Given the description of an element on the screen output the (x, y) to click on. 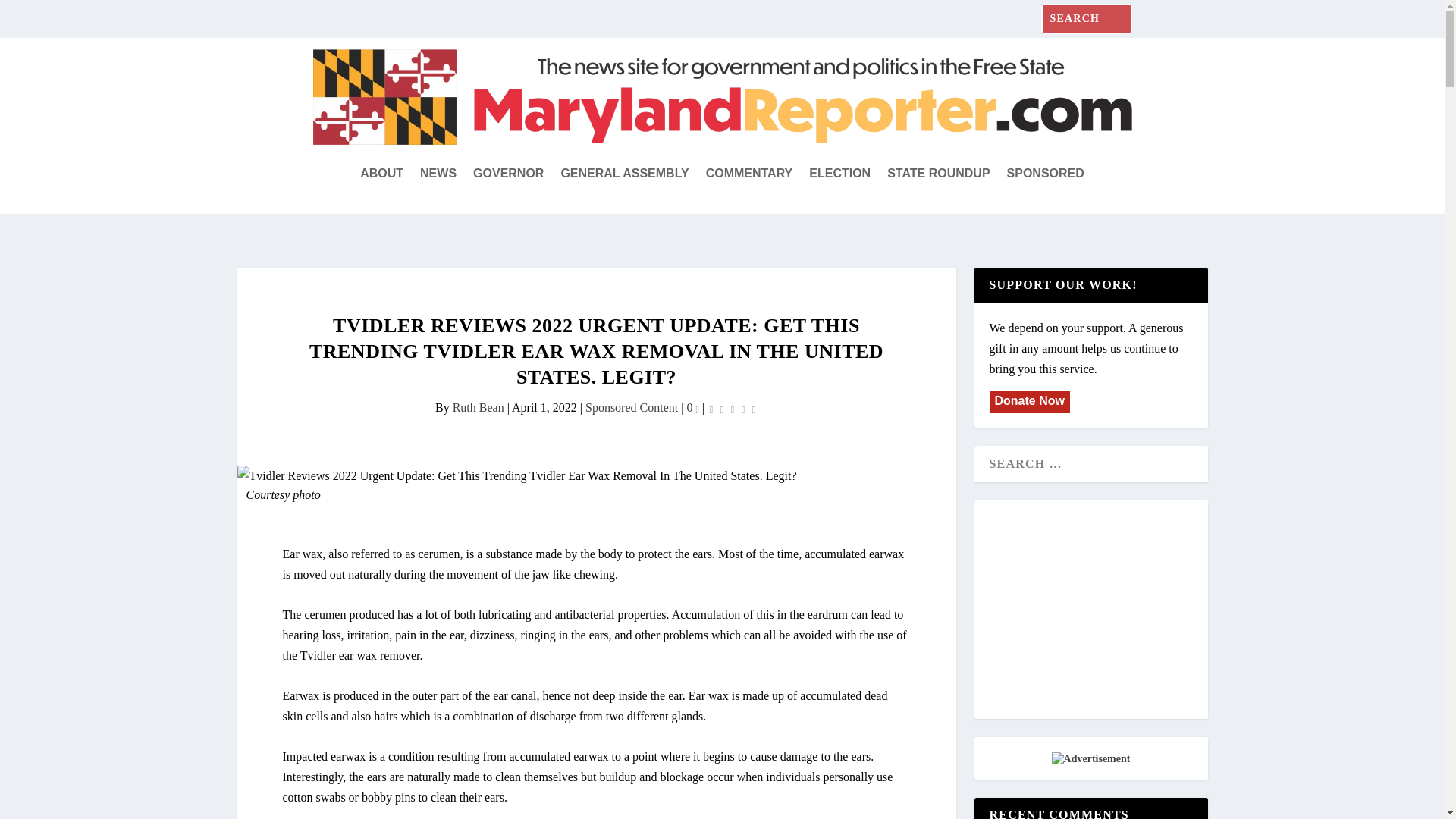
GOVERNOR (508, 173)
STATE ROUNDUP (938, 173)
SPONSORED (1045, 173)
Sponsored Content (631, 407)
Rating: 0.00 (732, 408)
GENERAL ASSEMBLY (624, 173)
Search (29, 15)
Posts by Ruth Bean (477, 407)
Donate Now (1028, 400)
Ruth Bean (477, 407)
